Given the description of an element on the screen output the (x, y) to click on. 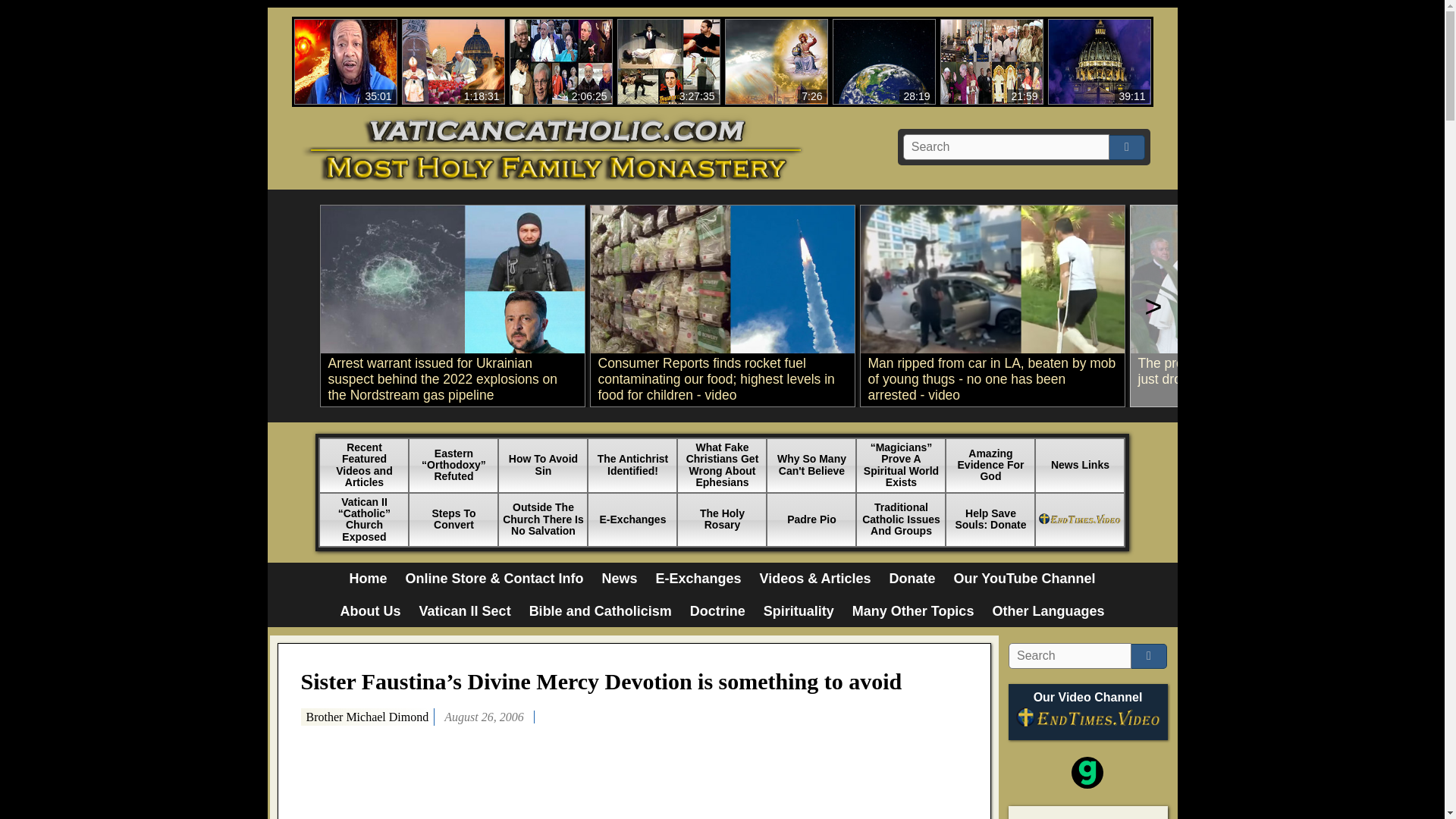
Home (453, 61)
E-Exchanges (367, 578)
News (697, 578)
About Us (619, 578)
Vatican II Sect (370, 611)
